Given the description of an element on the screen output the (x, y) to click on. 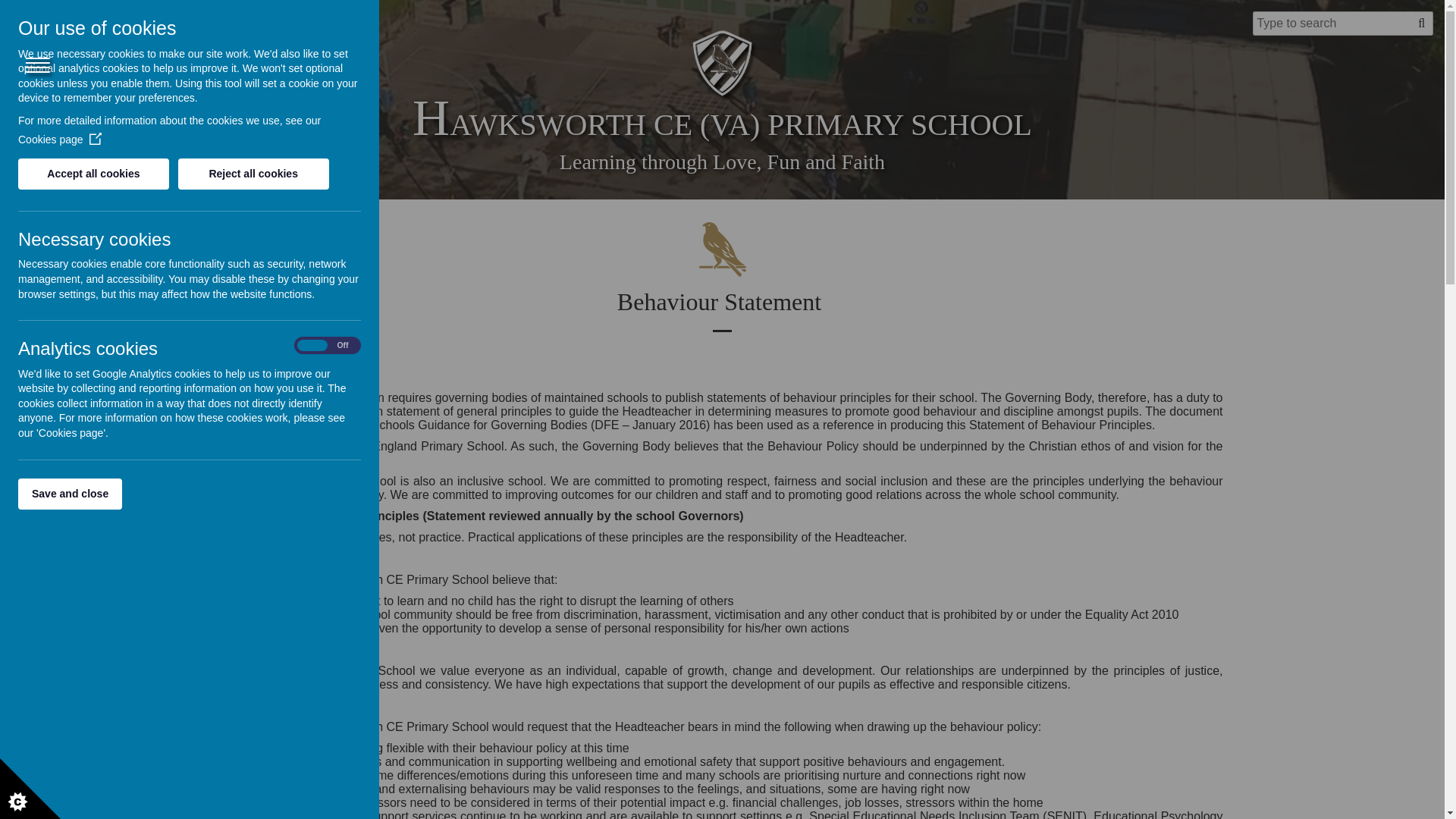
on (327, 345)
Search (1421, 23)
Cookie Control Icon (30, 788)
